Given the description of an element on the screen output the (x, y) to click on. 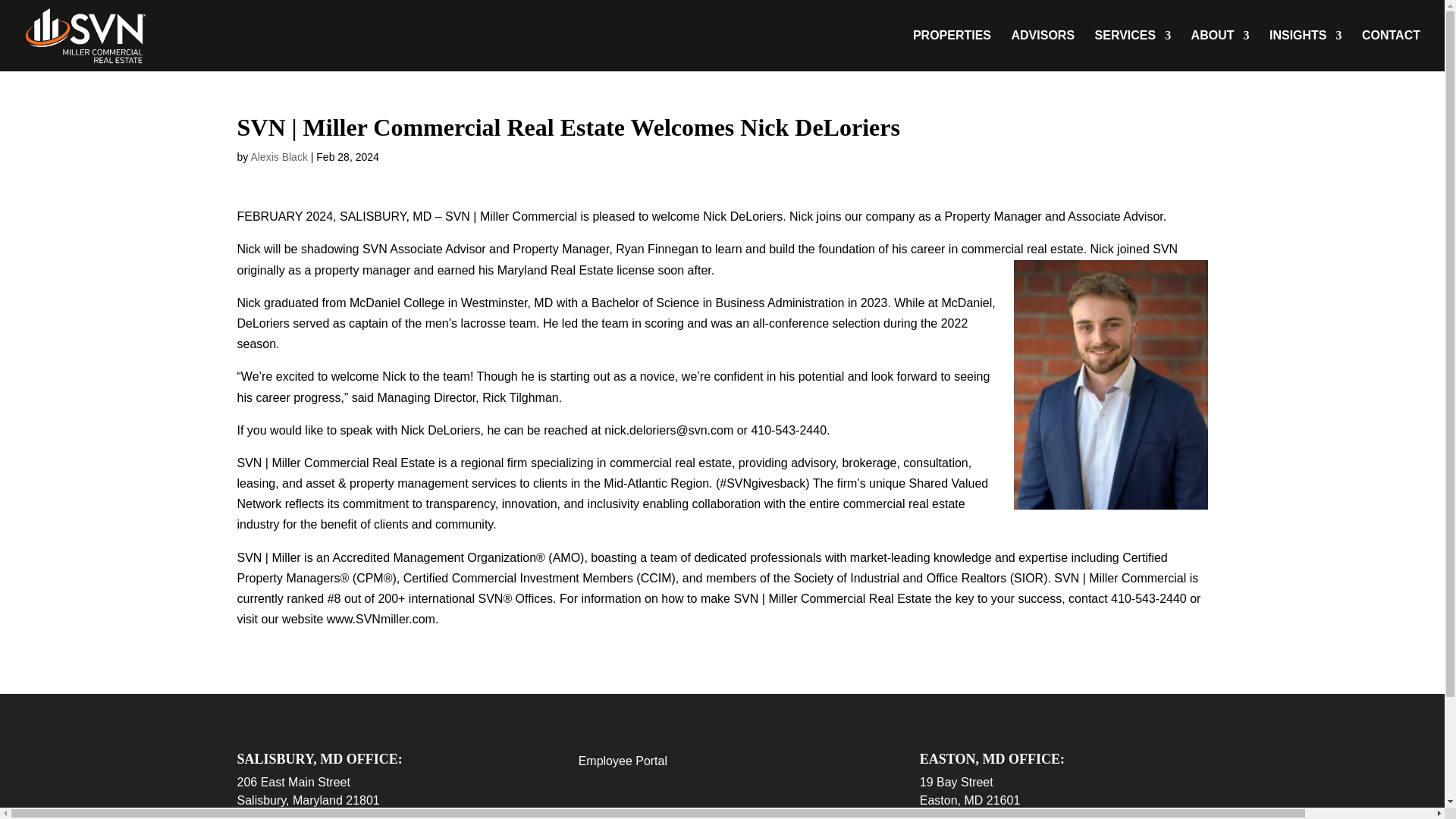
ADVISORS (1043, 50)
PROPERTIES (951, 50)
Posts by Alexis Black (278, 156)
INSIGHTS (1305, 50)
Employee Portal (622, 760)
Alexis Black (278, 156)
SERVICES (1133, 50)
ABOUT (1220, 50)
CONTACT (1391, 50)
